Given the description of an element on the screen output the (x, y) to click on. 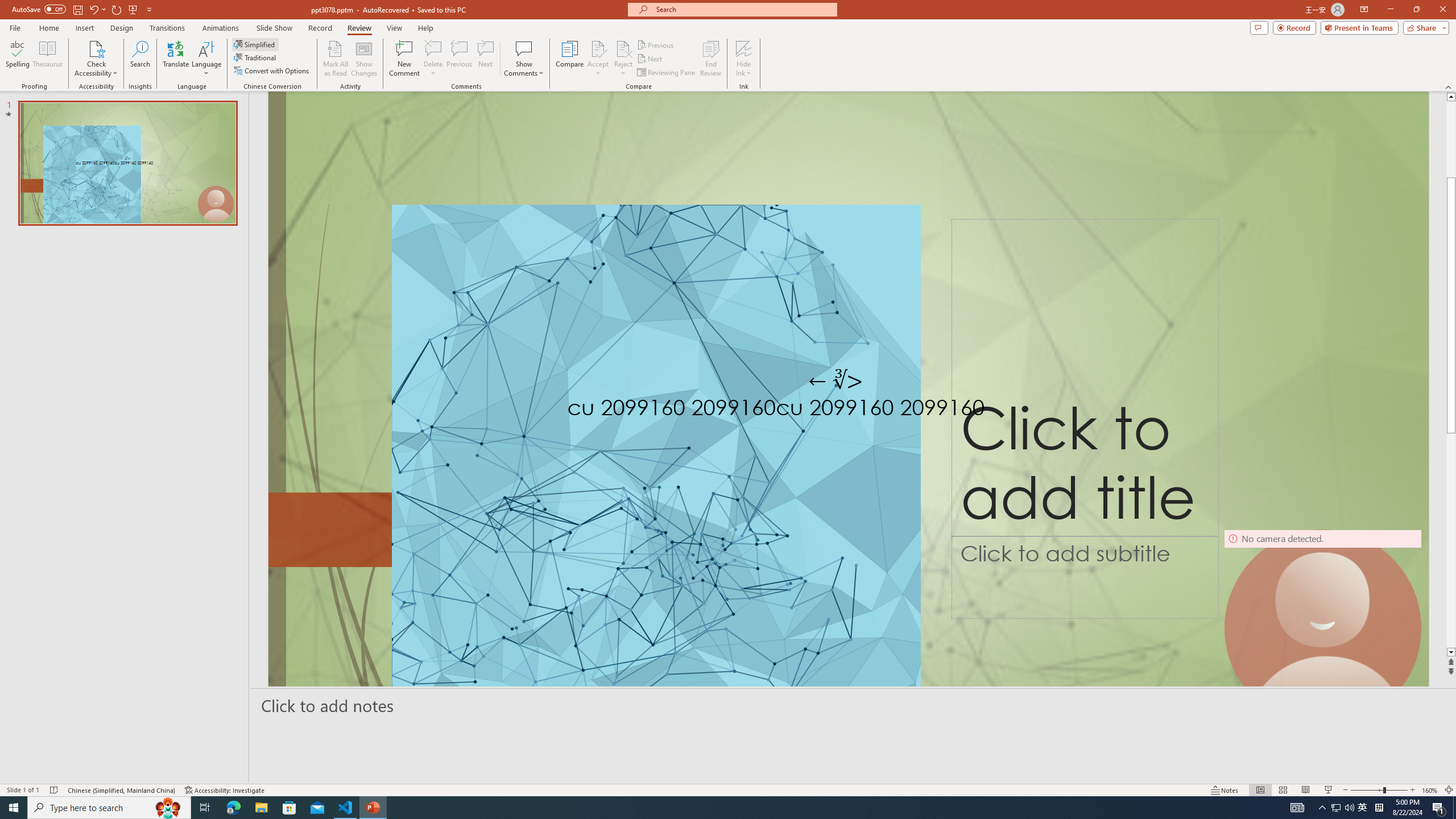
Thesaurus... (47, 58)
Language (206, 58)
New Comment (403, 58)
TextBox 7 (836, 380)
